Given the description of an element on the screen output the (x, y) to click on. 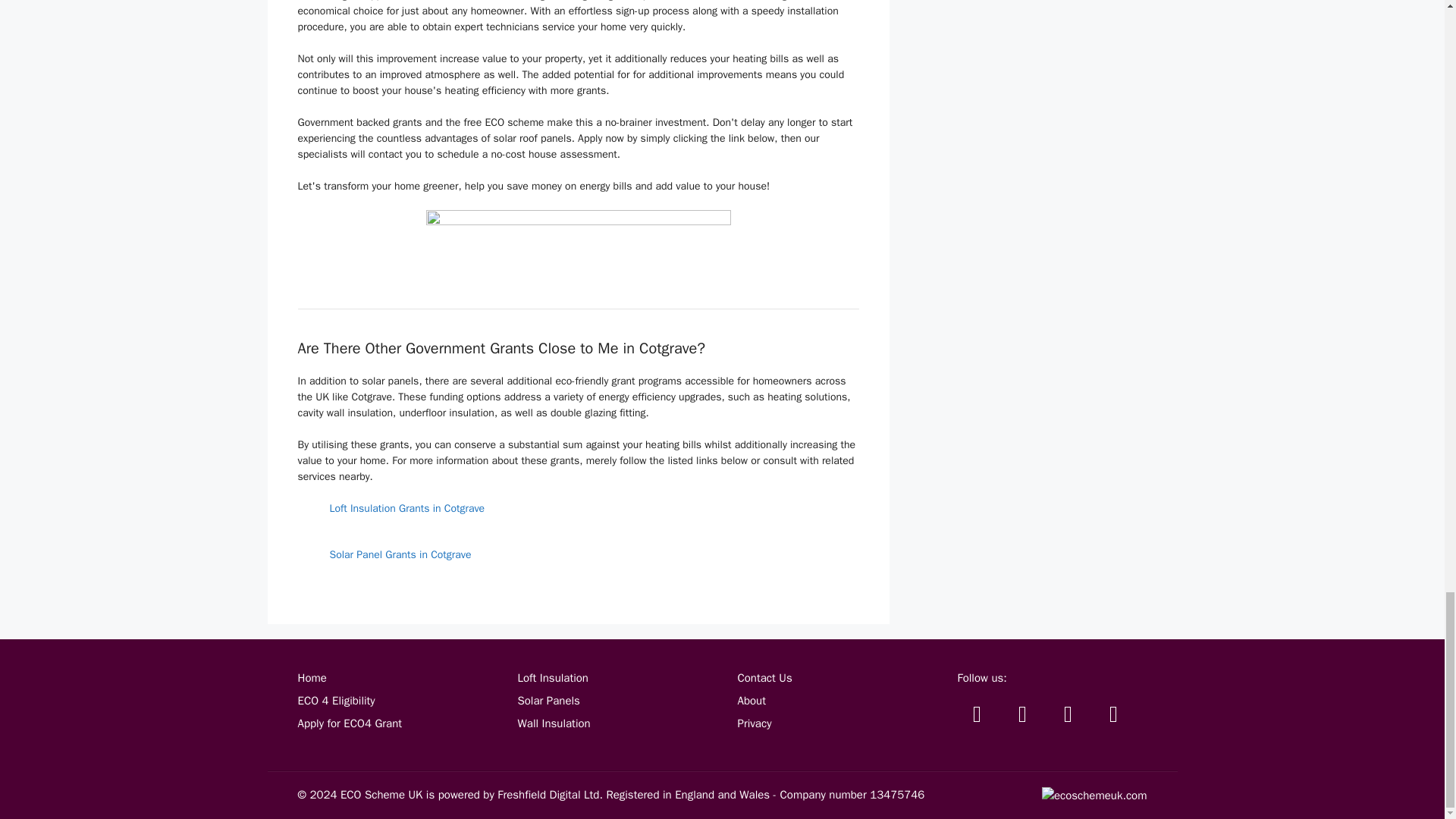
LinkedIn (1112, 713)
Solar Panel Grants in Cotgrave (399, 554)
Apply for ECO4 Grant (349, 723)
Loft Insulation Grants in Cotgrave (406, 508)
Solar Panel Grants in Cotgrave (399, 554)
Loft Insulation (552, 677)
Home (311, 677)
Solar Panels (547, 700)
Twitter (975, 713)
Privacy (753, 723)
